Given the description of an element on the screen output the (x, y) to click on. 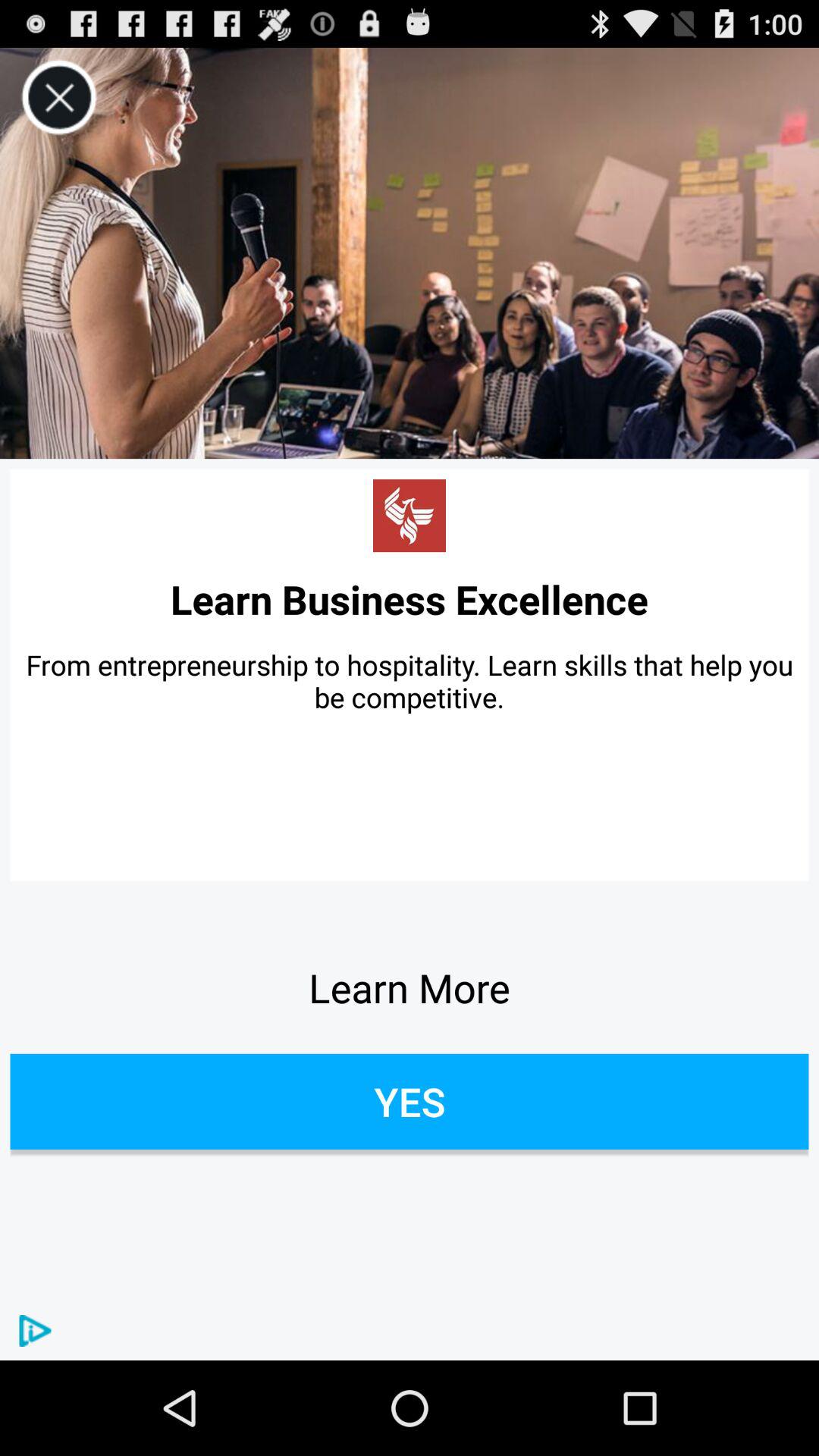
swipe until learn more icon (409, 987)
